Given the description of an element on the screen output the (x, y) to click on. 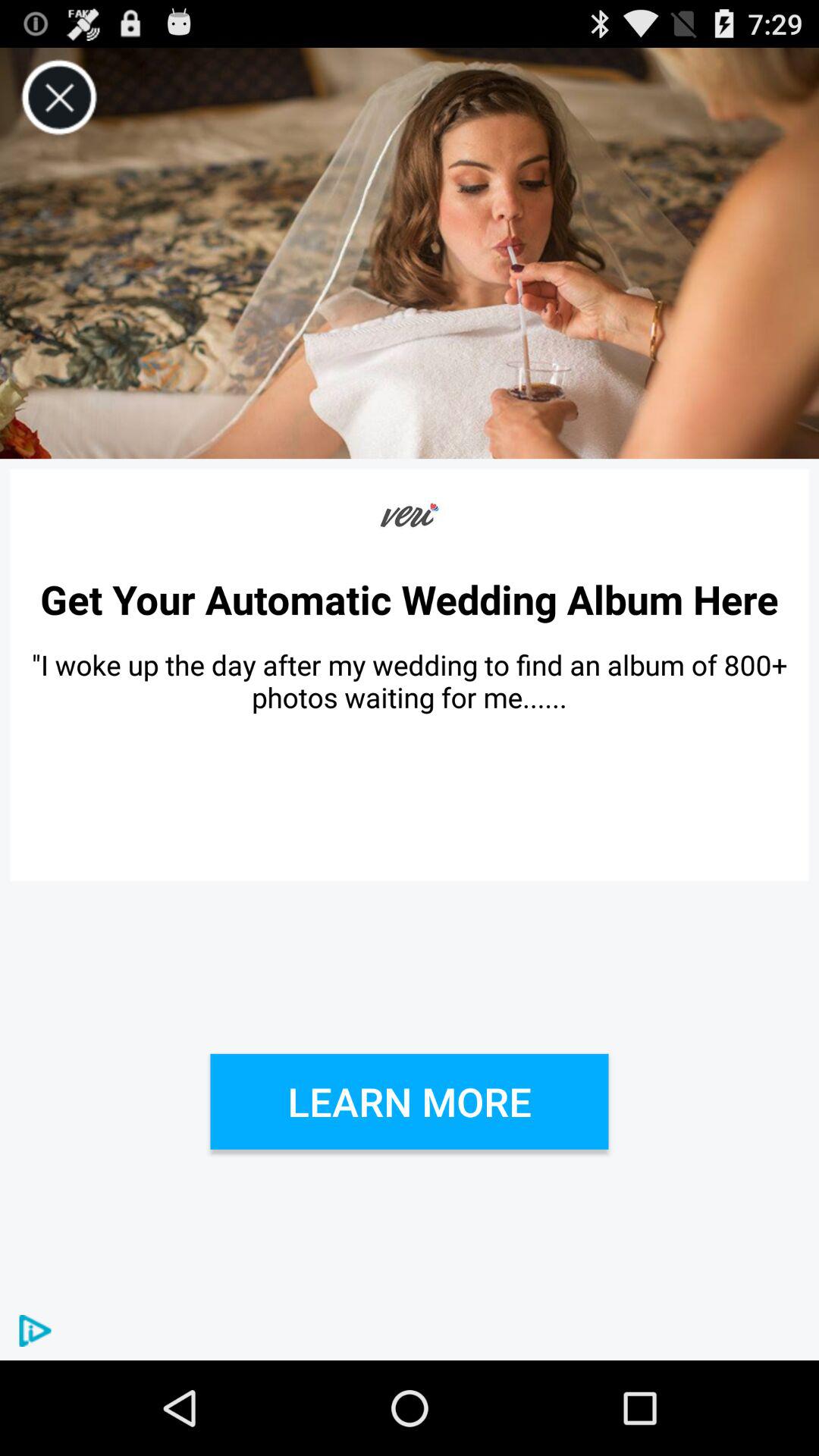
tap the button at the bottom (409, 1101)
